Given the description of an element on the screen output the (x, y) to click on. 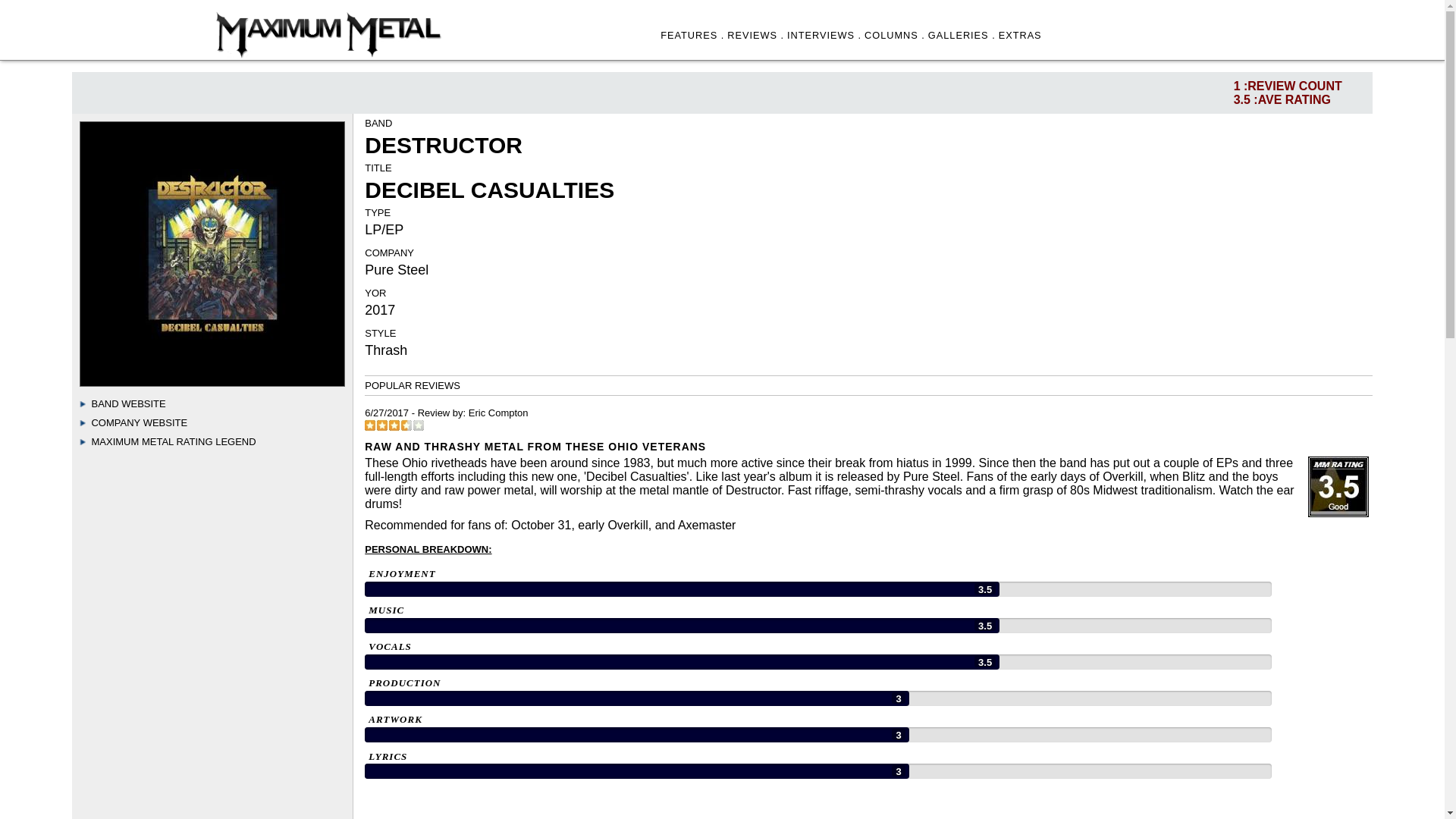
INTERVIEWS . (824, 34)
COLUMNS . (894, 34)
EXTRAS (1020, 34)
REVIEWS . (755, 34)
Eric Compton (498, 412)
COMPANY WEBSITE (138, 422)
BAND WEBSITE (127, 403)
GALLERIES . (961, 34)
FEATURES . (692, 34)
